Given the description of an element on the screen output the (x, y) to click on. 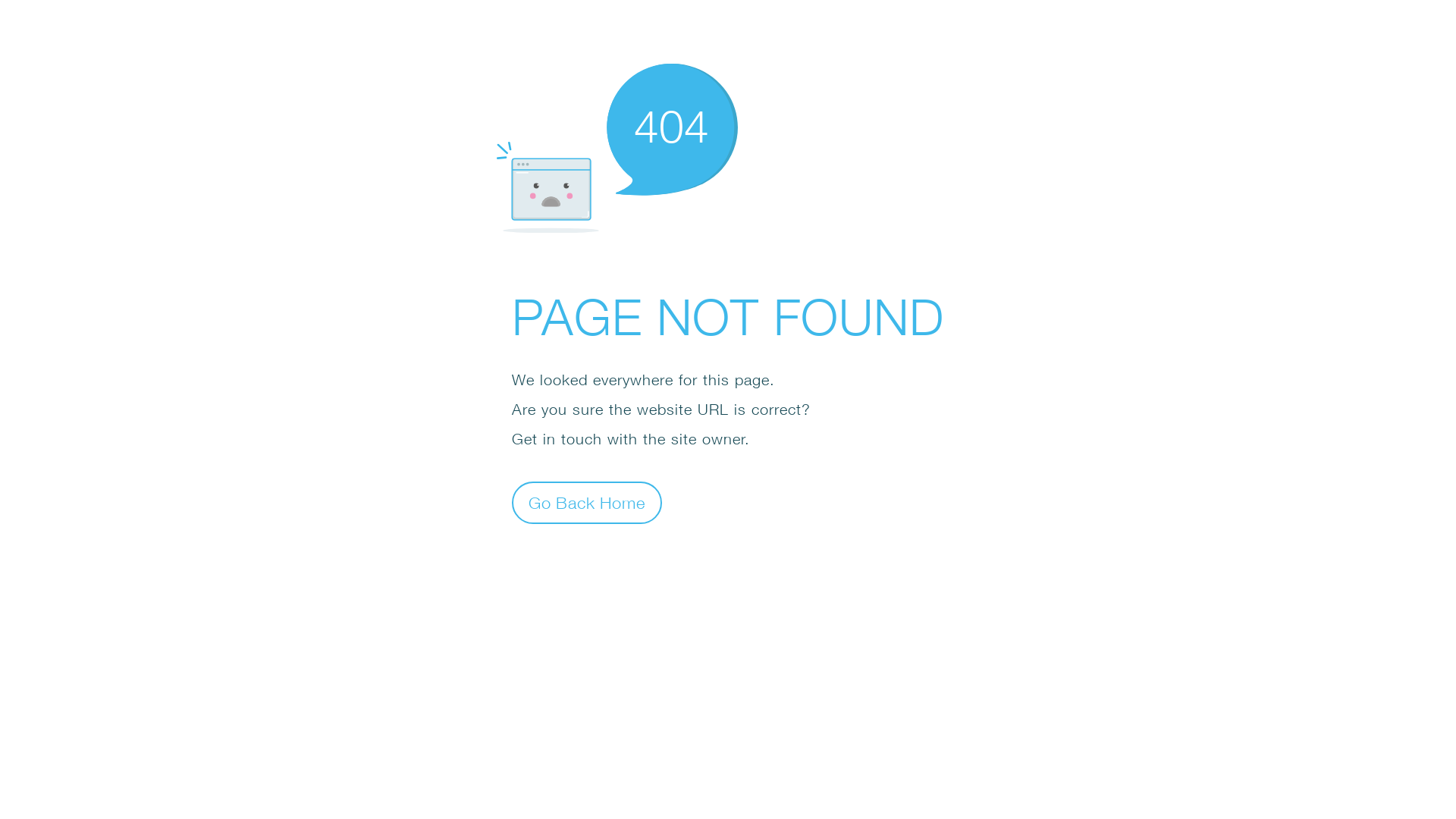
Go Back Home Element type: text (586, 502)
